Given the description of an element on the screen output the (x, y) to click on. 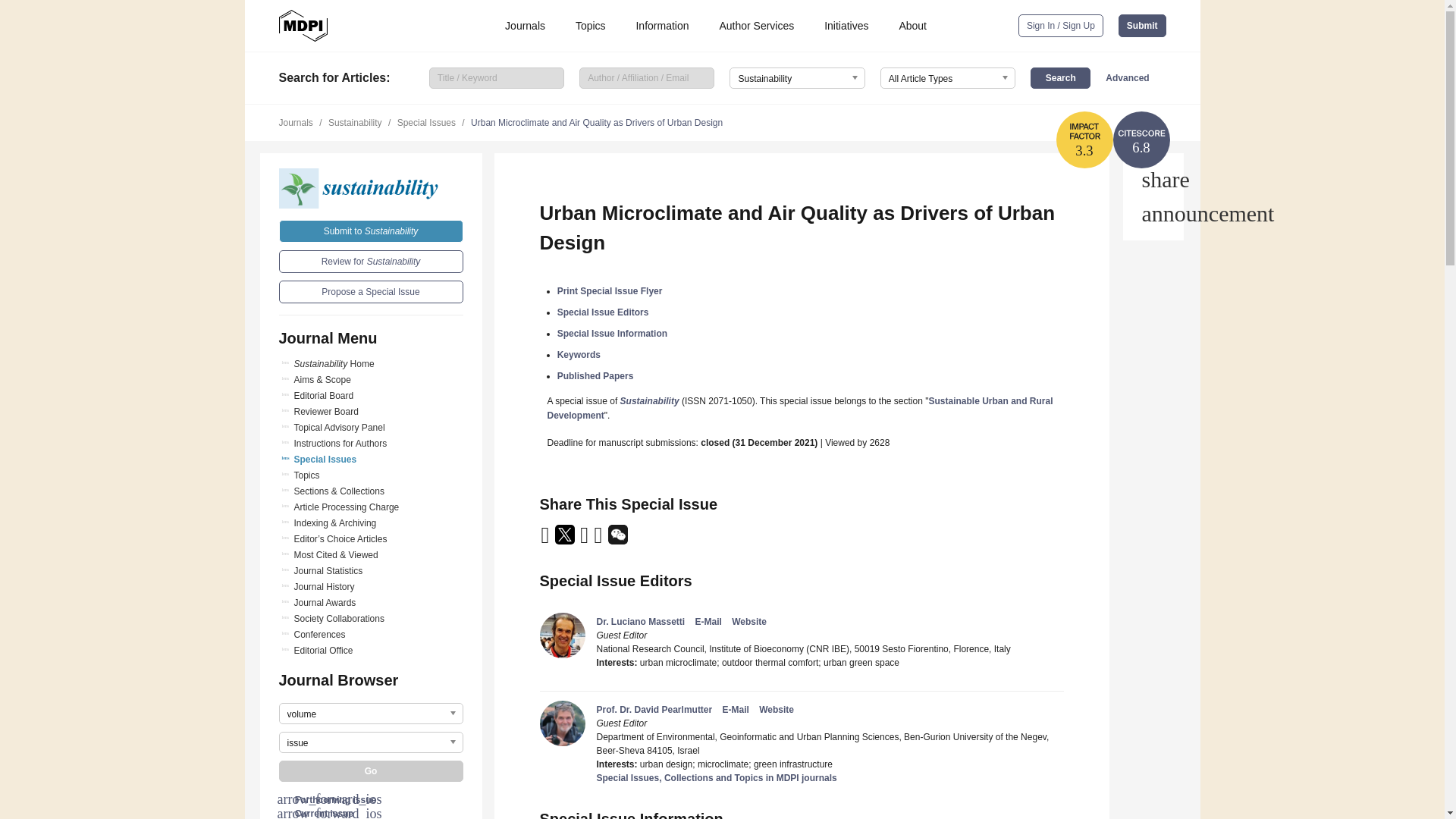
Search (1060, 77)
MDPI Open Access Journals (303, 25)
Wechat (617, 539)
Go (371, 771)
Search (1060, 77)
facebook (599, 539)
Email (546, 539)
Twitter (565, 539)
LinkedIn (585, 539)
Sustainability (371, 188)
